Given the description of an element on the screen output the (x, y) to click on. 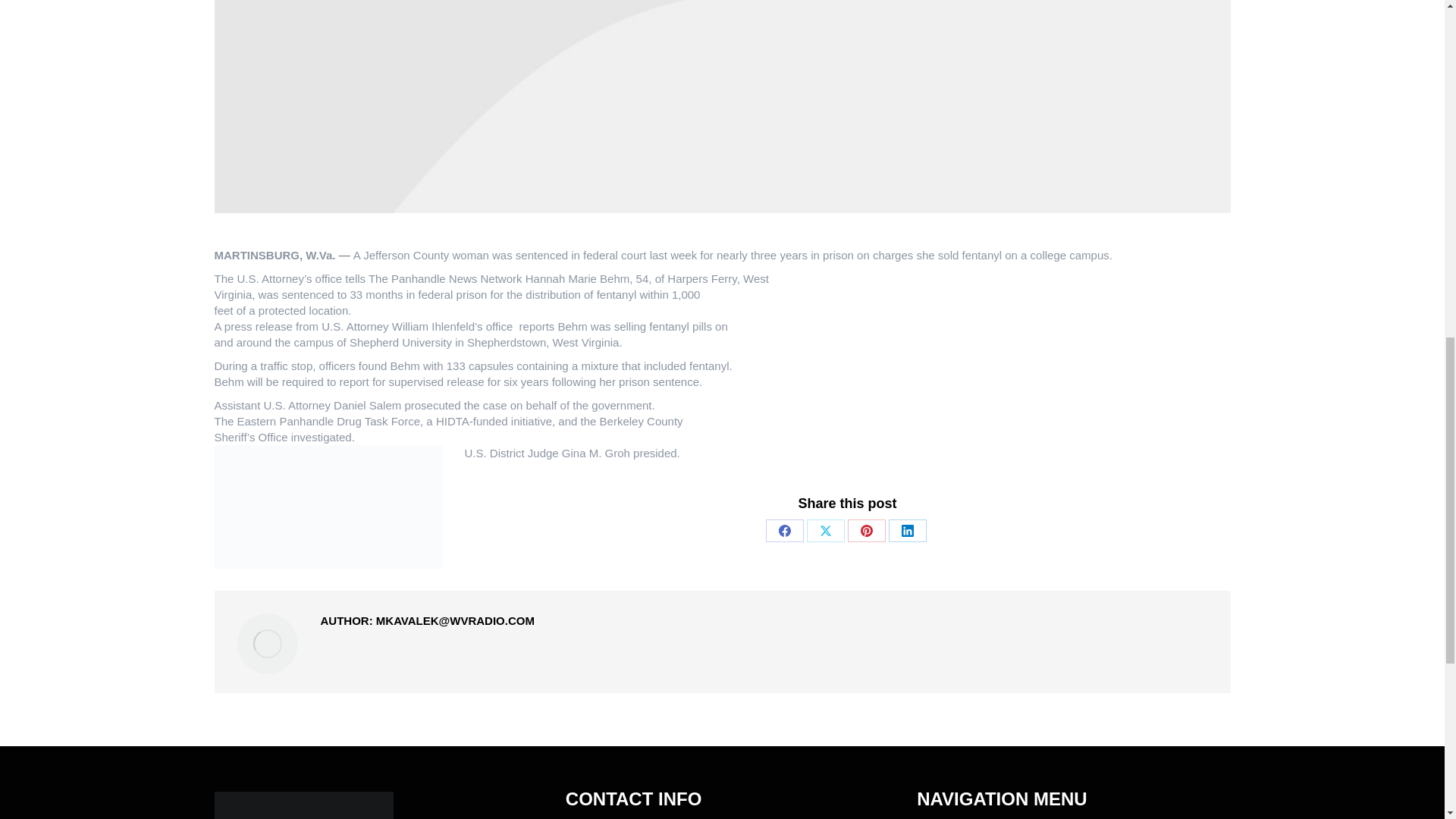
LinkedIn (907, 530)
Pinterest (866, 530)
Facebook (784, 530)
X (825, 530)
